Given the description of an element on the screen output the (x, y) to click on. 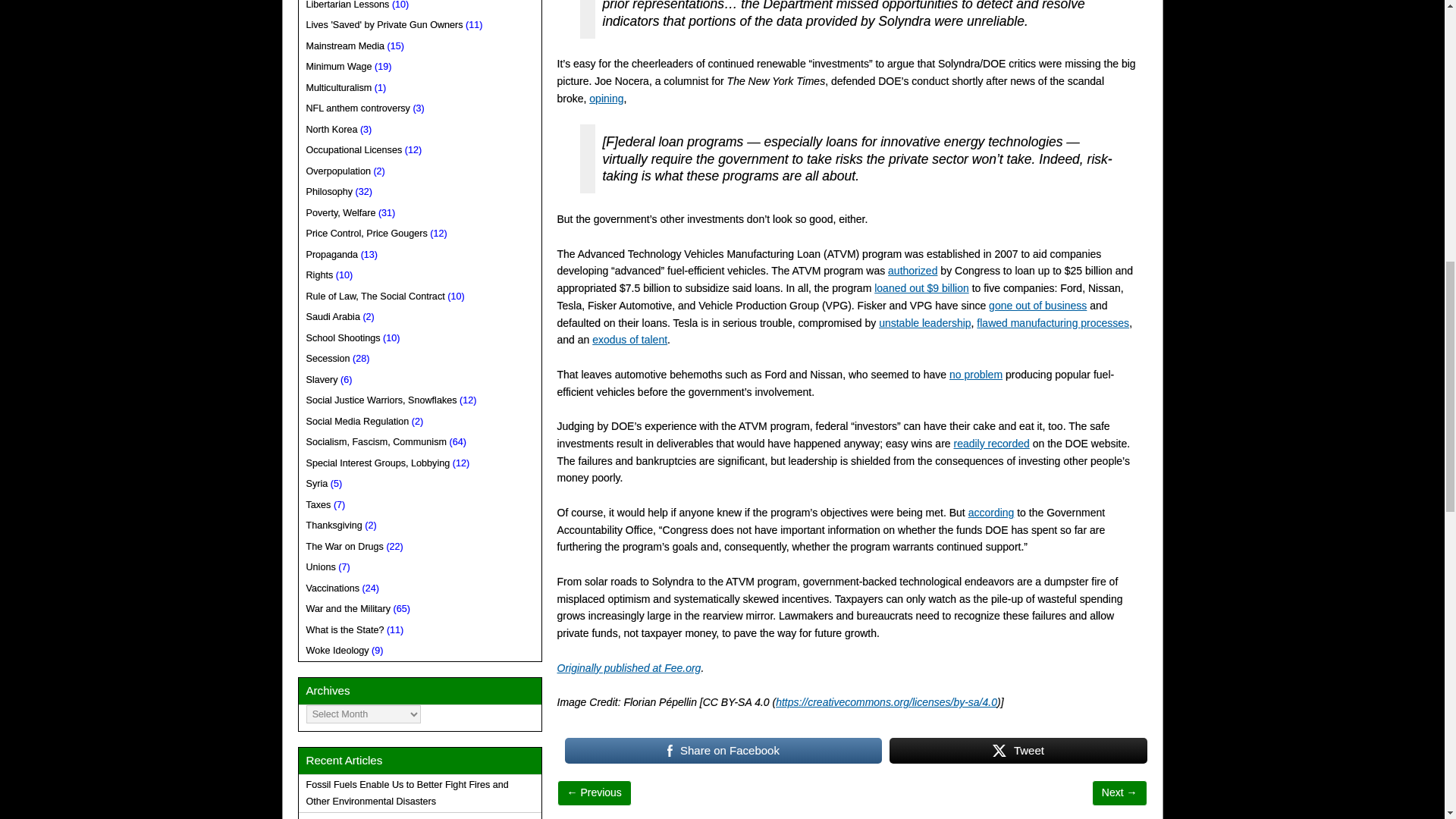
authorized (912, 270)
Why "Worker Exploitation" Is a Myth (1119, 792)
opining (606, 98)
Guns Prevent Thousands of Crimes Every Day, Research Shows (594, 792)
unstable leadership (925, 322)
gone out of business (1037, 305)
